Given the description of an element on the screen output the (x, y) to click on. 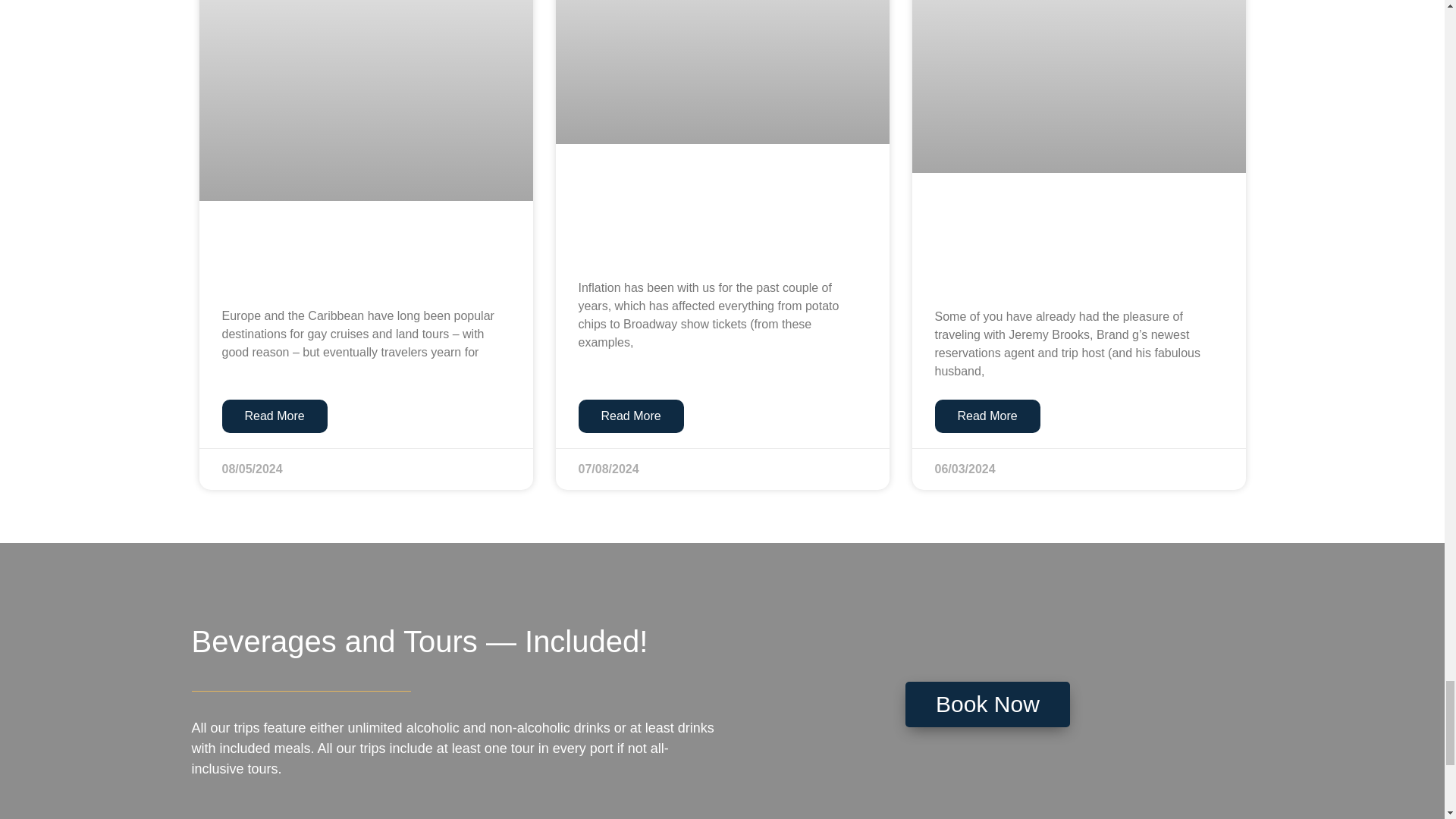
Read More (630, 416)
Read More (986, 416)
Read More (273, 416)
Book Now (987, 704)
